Given the description of an element on the screen output the (x, y) to click on. 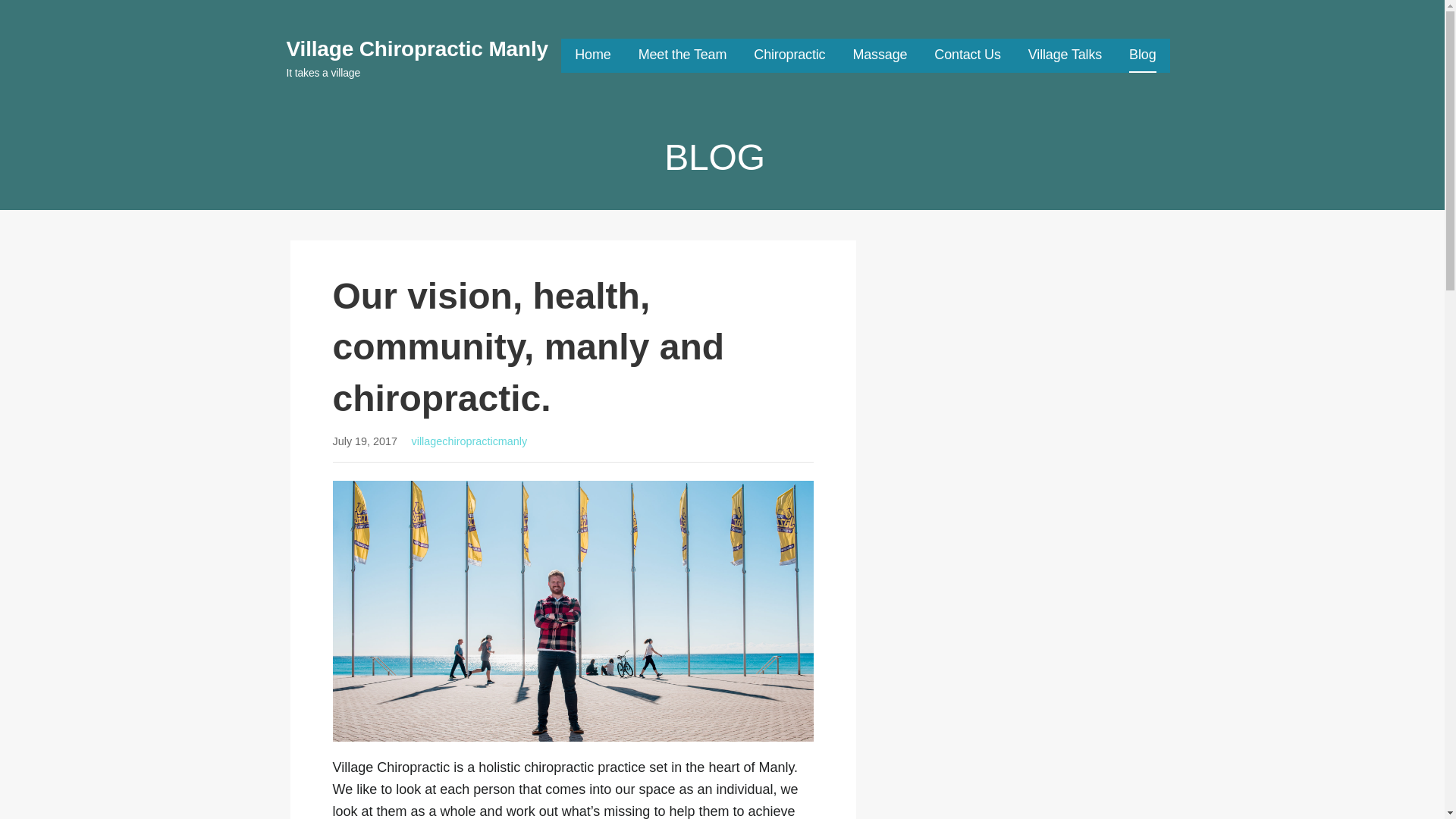
Village Chiropractic Manly (417, 48)
Home (592, 55)
villagechiropracticmanly (468, 440)
Meet the Team (682, 55)
Village Talks (1064, 55)
Posts by villagechiropracticmanly (468, 440)
Massage (879, 55)
Contact Us (967, 55)
Chiropractic (789, 55)
